Given the description of an element on the screen output the (x, y) to click on. 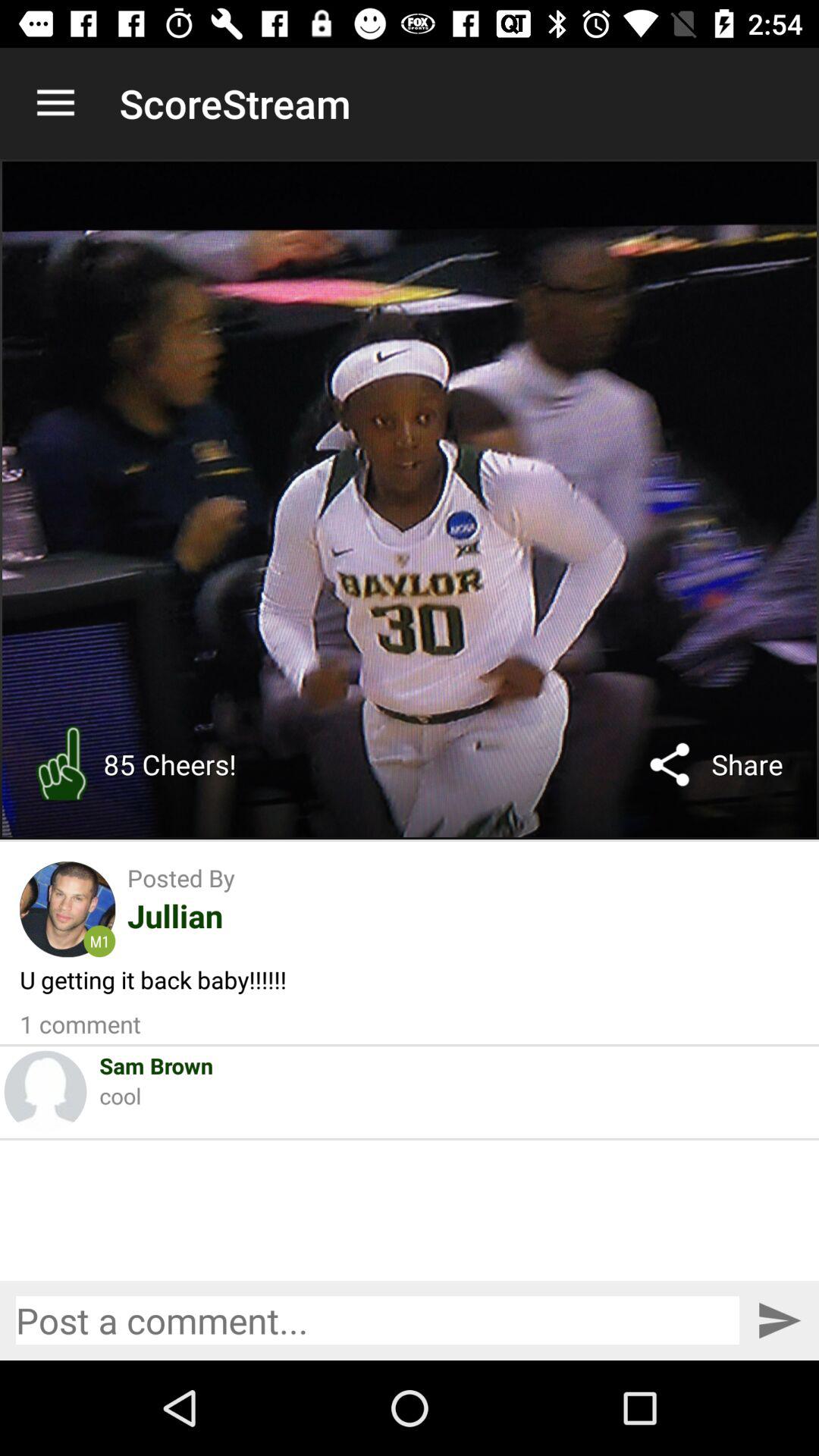
post comment (779, 1320)
